Given the description of an element on the screen output the (x, y) to click on. 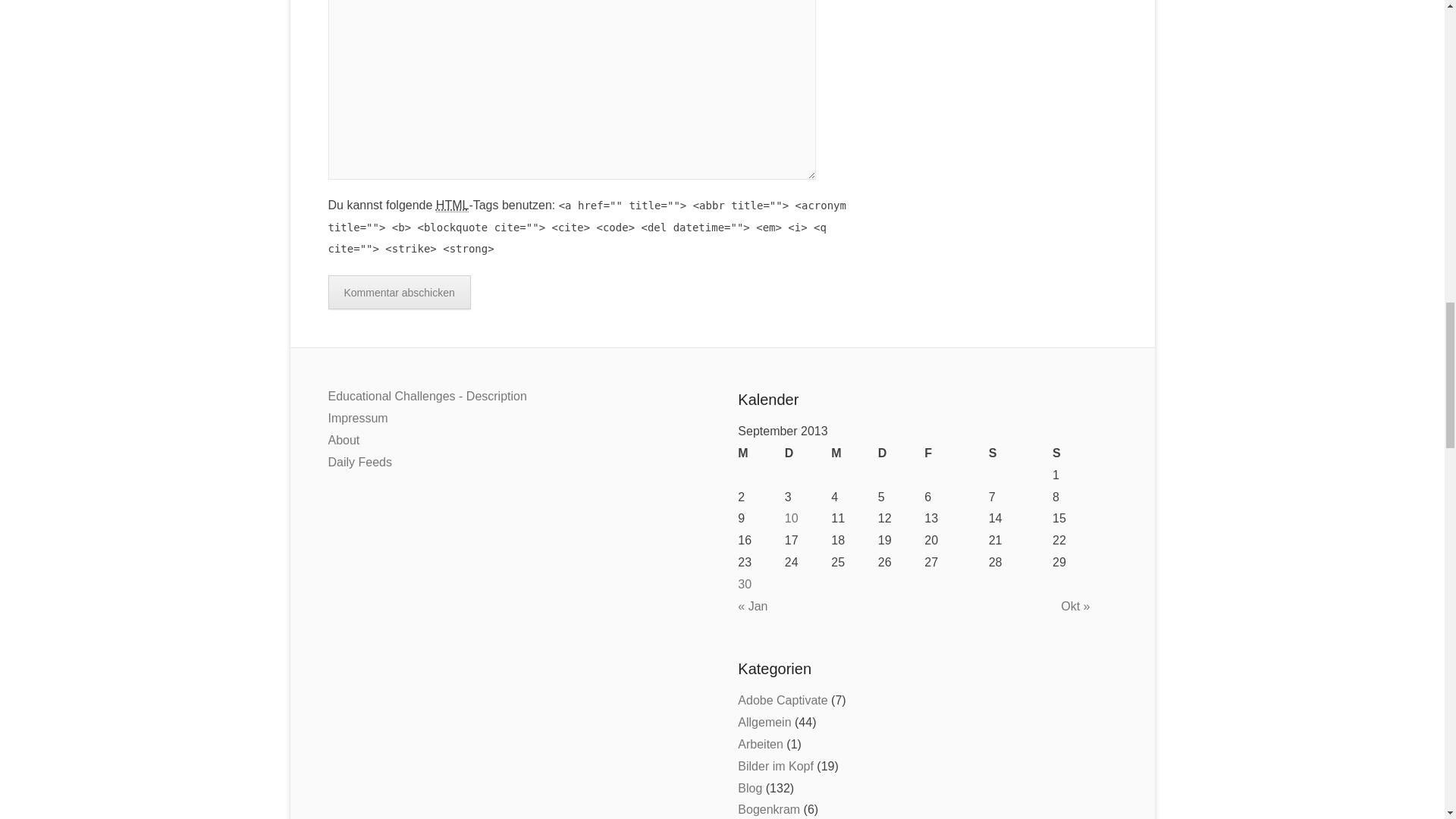
Donnerstag (900, 454)
Sonntag (1084, 454)
Gedanken zu Diesem und Jenem (775, 766)
Freitag (956, 454)
Alles zu Adobe Captivate und drumherum (782, 699)
HyperText Markup Language (451, 205)
Mittwoch (854, 454)
Alle unter Arbeiten abgelegten Artikel ansehen (760, 744)
Samstag (1020, 454)
About Thinking Small (744, 584)
Kommentar abschicken (398, 292)
Alle unter Blog abgelegten Artikel ansehen (749, 787)
Alle unter Bogenkram abgelegten Artikel ansehen (768, 809)
Wenn kein Topf passend erscheint kommt das Zeug hier hinein. (764, 721)
Educational Challenges - Description (426, 395)
